Given the description of an element on the screen output the (x, y) to click on. 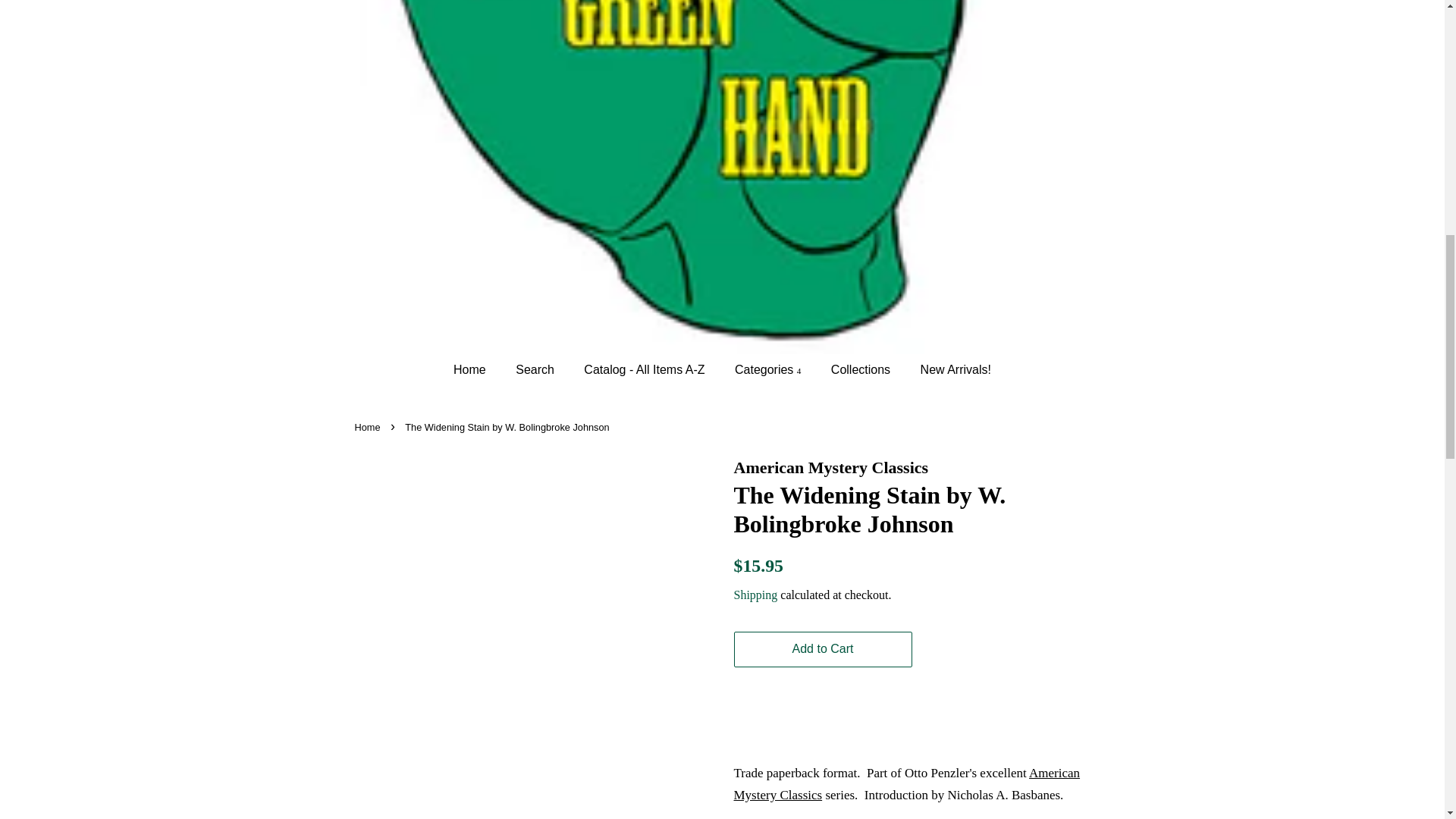
Back to the frontpage (369, 427)
